Given the description of an element on the screen output the (x, y) to click on. 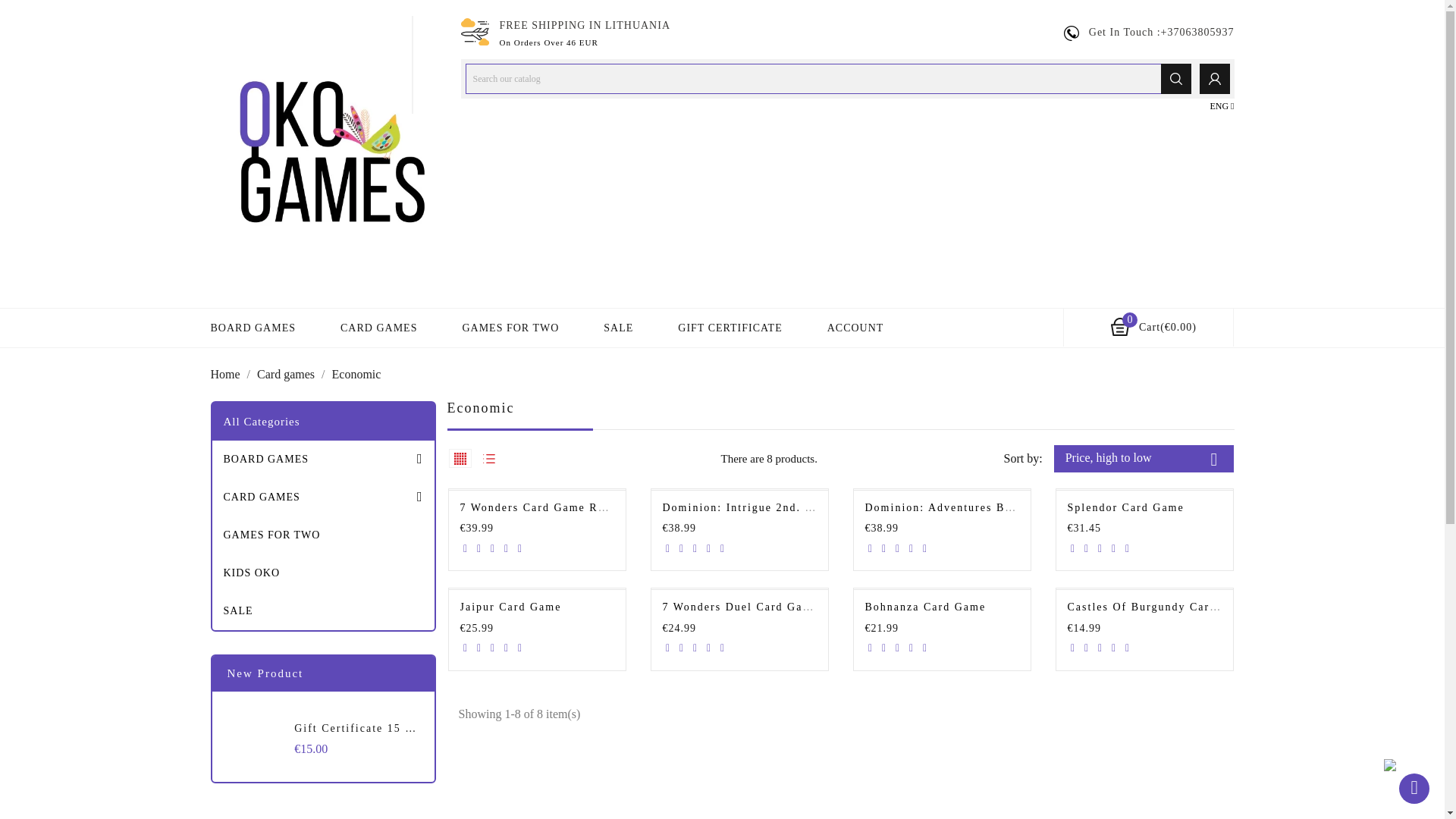
CARD GAMES (378, 327)
Card games (287, 373)
BOARD GAMES (254, 327)
Economic (356, 373)
ENG (1221, 105)
GIFT CERTIFICATE (729, 327)
ACCOUNT (855, 327)
CARD GAMES (322, 497)
GAMES FOR TWO (510, 327)
BOARD GAMES (322, 459)
Home (227, 373)
SALE (618, 327)
